Given the description of an element on the screen output the (x, y) to click on. 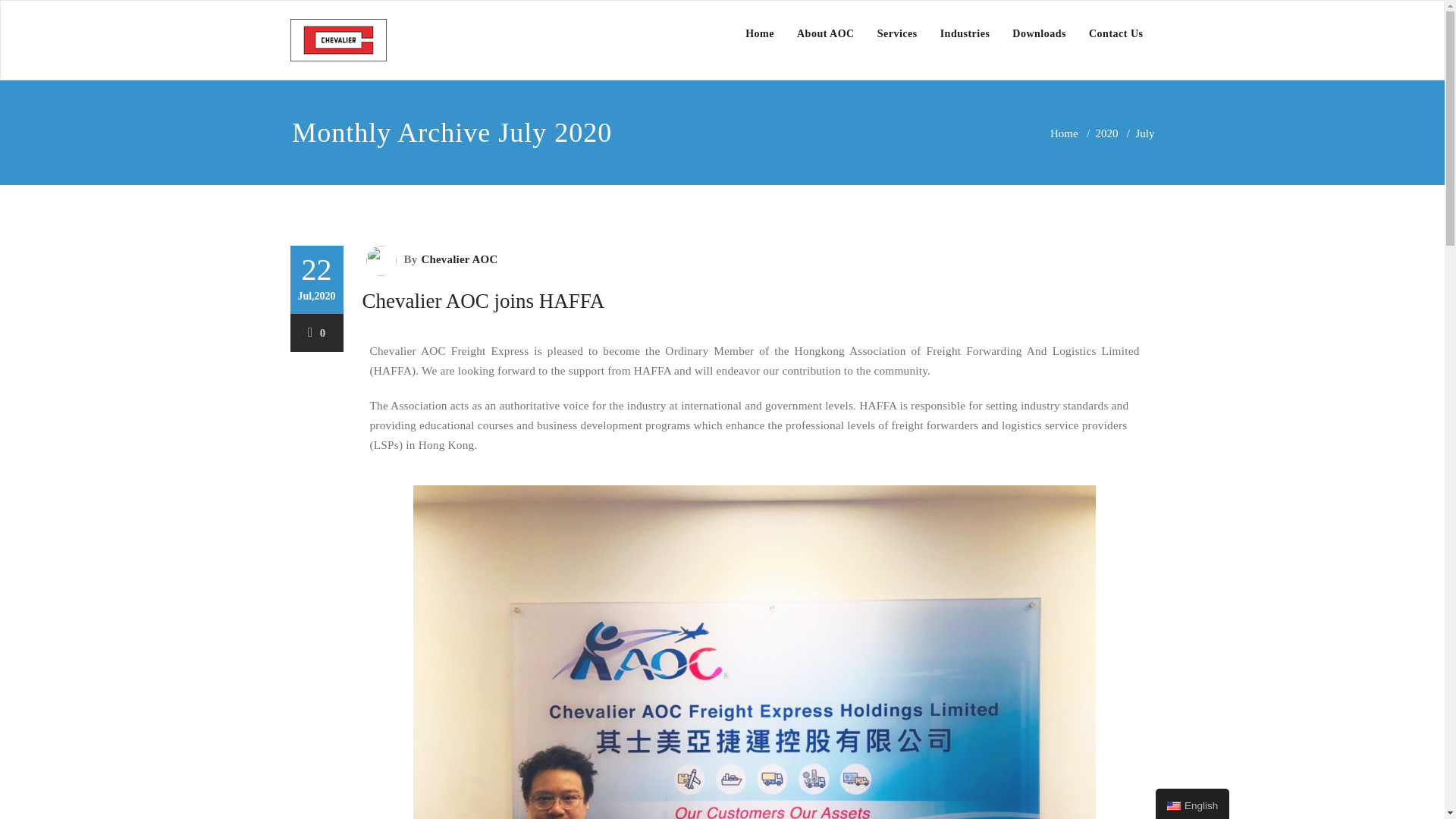
Industries (964, 33)
Downloads (1039, 33)
Home (1063, 133)
0 (316, 332)
Chevalier AOC joins HAFFA (483, 300)
Services (897, 33)
Home (759, 33)
2020 (1107, 133)
English (1173, 805)
English (1192, 803)
